Given the description of an element on the screen output the (x, y) to click on. 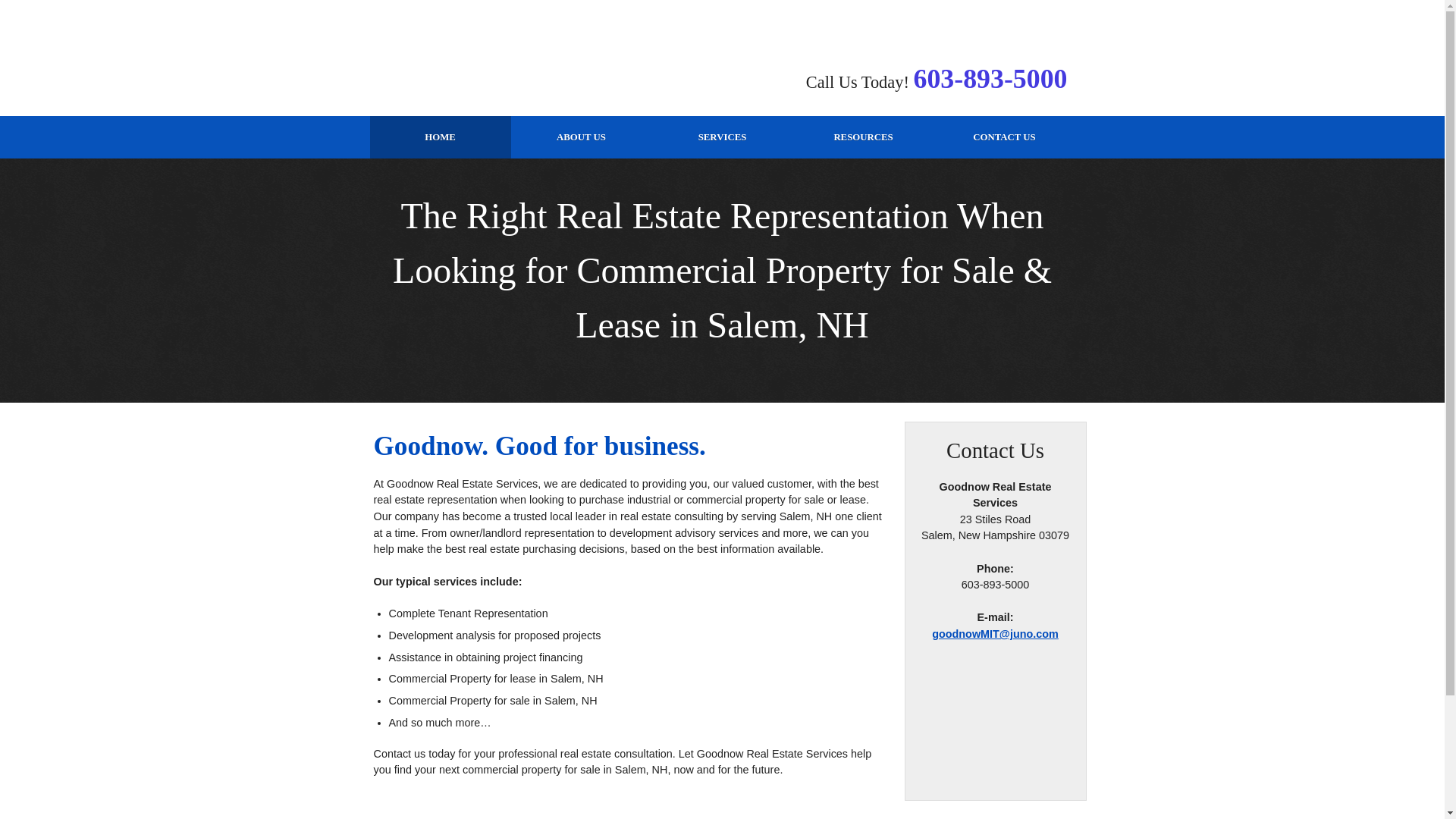
603-893-5000 (989, 78)
HOME (440, 137)
RESOURCES (863, 137)
SERVICES (722, 137)
Skip to content (44, 7)
Skip to content (44, 7)
ABOUT US (581, 137)
CONTACT US (1004, 137)
